Given the description of an element on the screen output the (x, y) to click on. 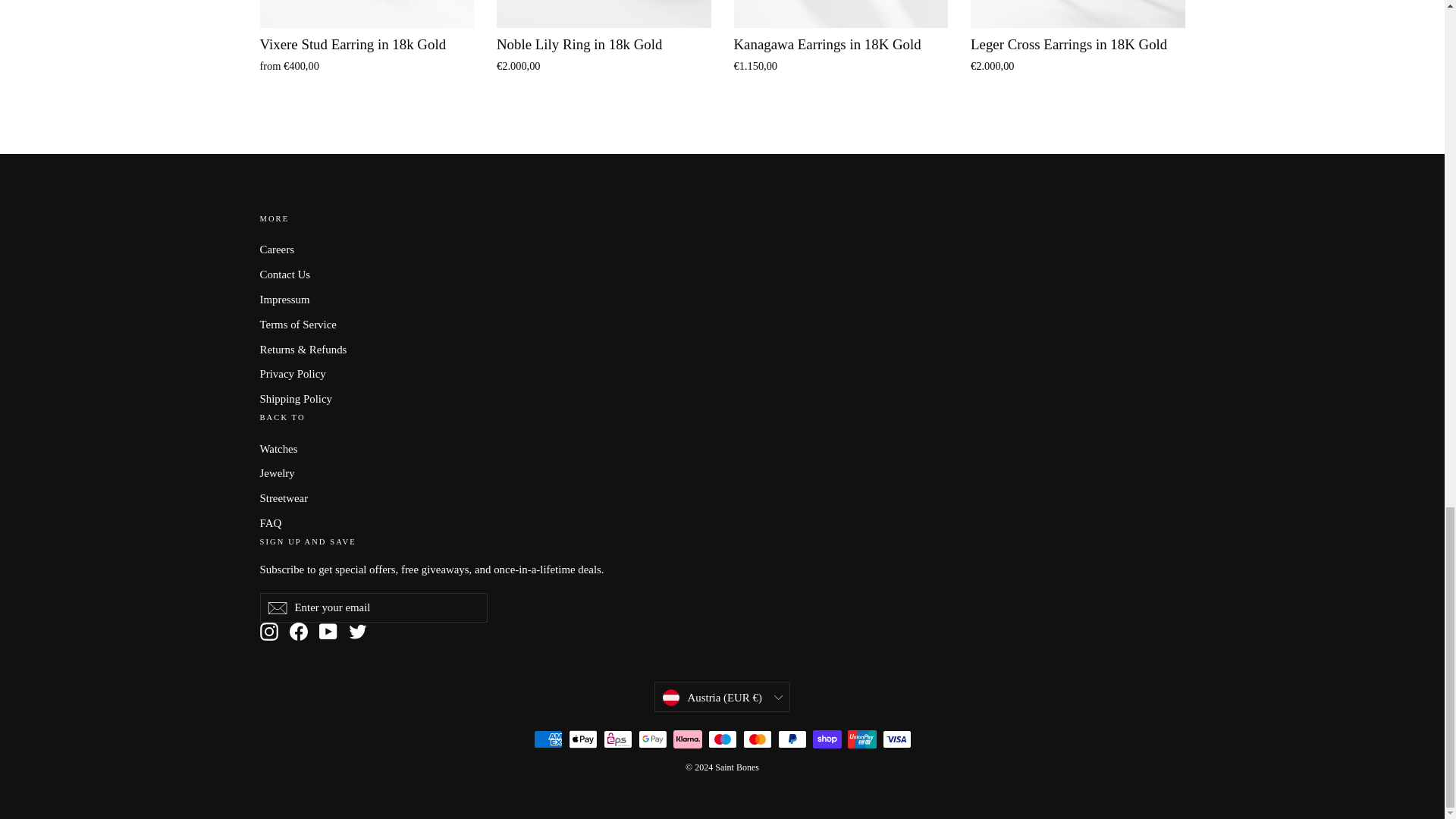
Saint Bones on Facebook (298, 631)
Saint Bones on Twitter (357, 631)
icon-email (276, 607)
Apple Pay (582, 739)
American Express (548, 739)
instagram (268, 631)
twitter (357, 631)
Saint Bones on YouTube (327, 631)
Saint Bones on Instagram (268, 631)
